Given the description of an element on the screen output the (x, y) to click on. 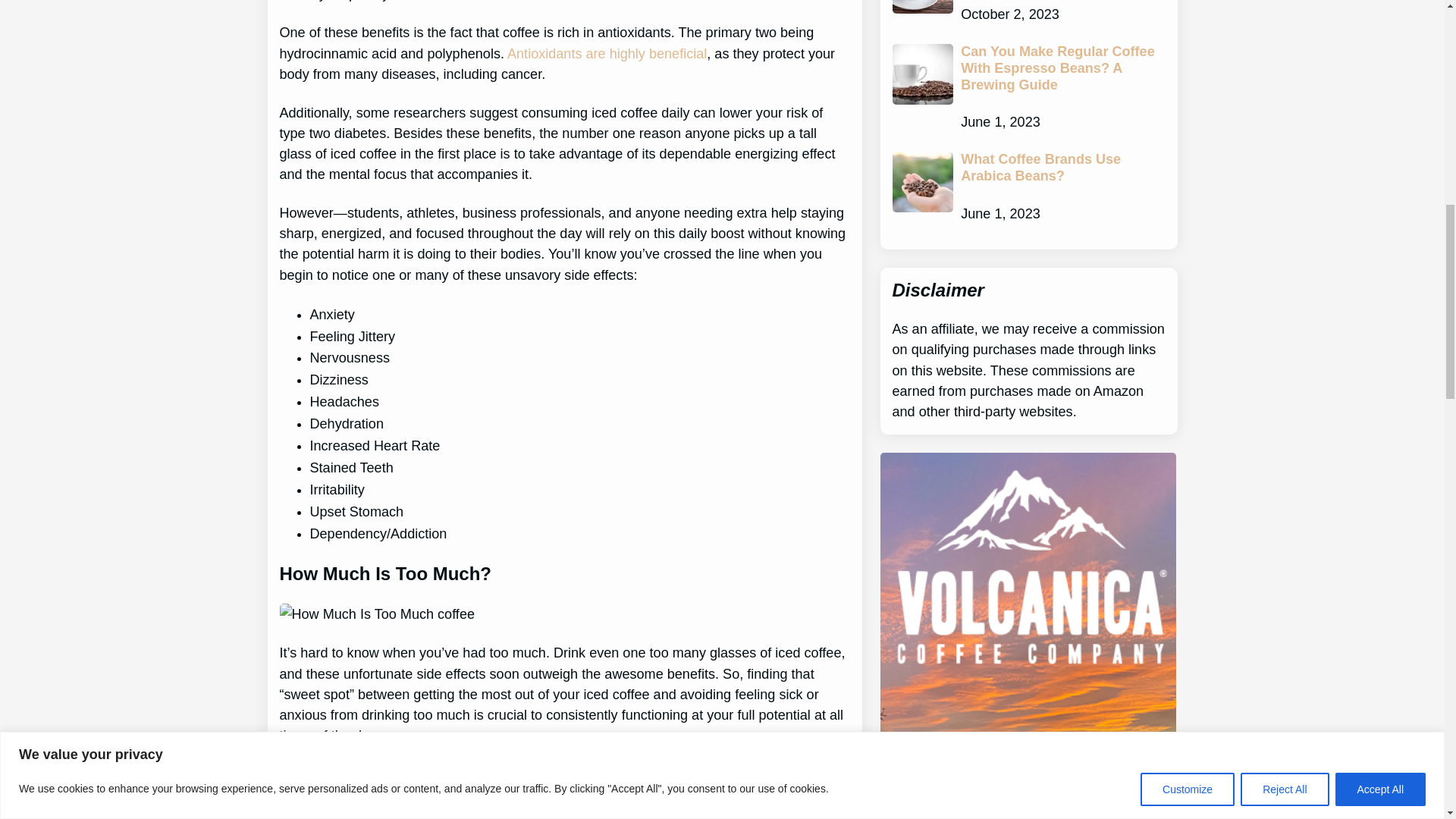
Antioxidants are highly beneficial (606, 53)
